Given the description of an element on the screen output the (x, y) to click on. 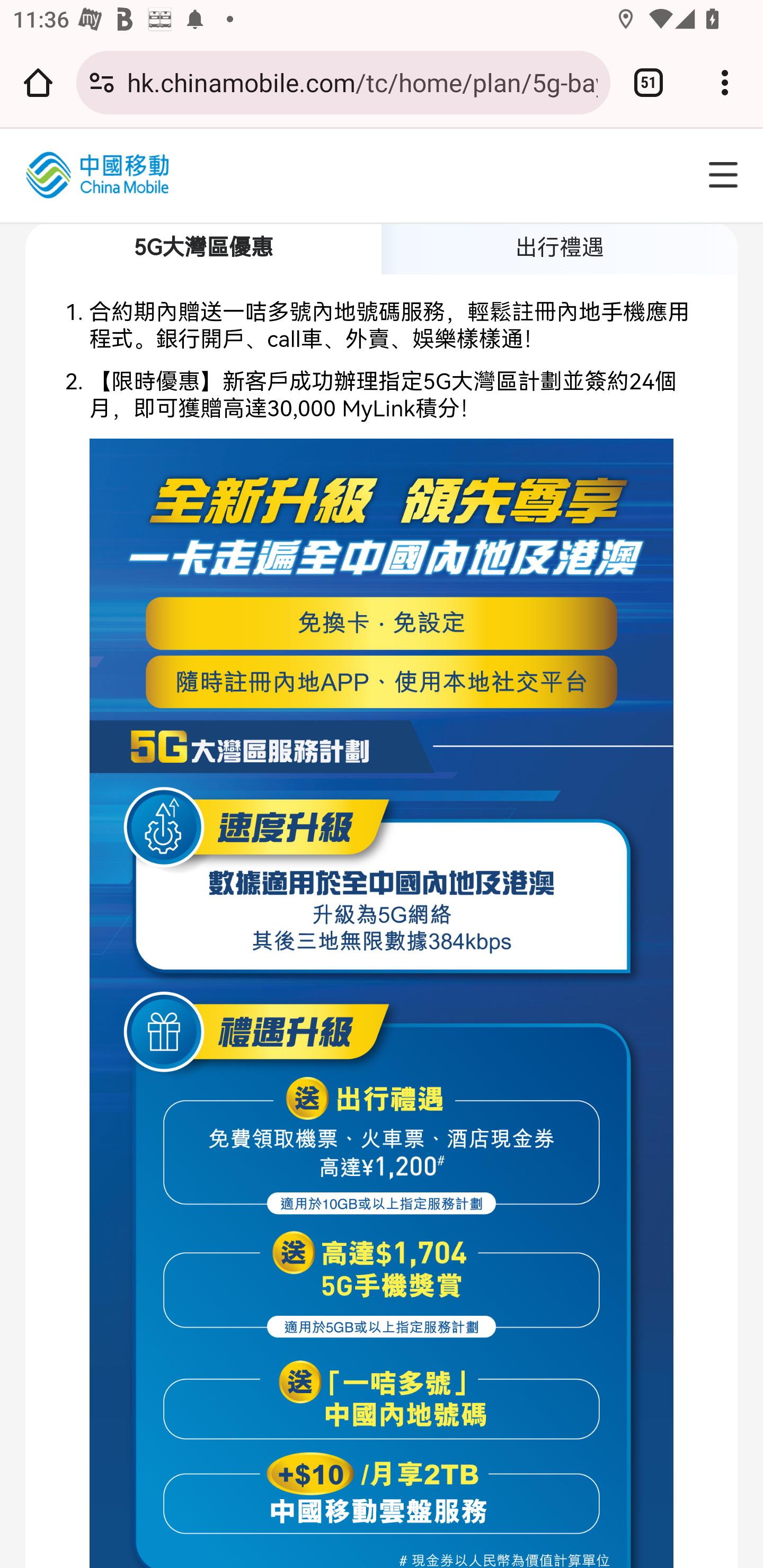
Open the home page (38, 82)
Connection is secure (101, 82)
Switch or close tabs (648, 82)
Customize and control Google Chrome (724, 82)
